Given the description of an element on the screen output the (x, y) to click on. 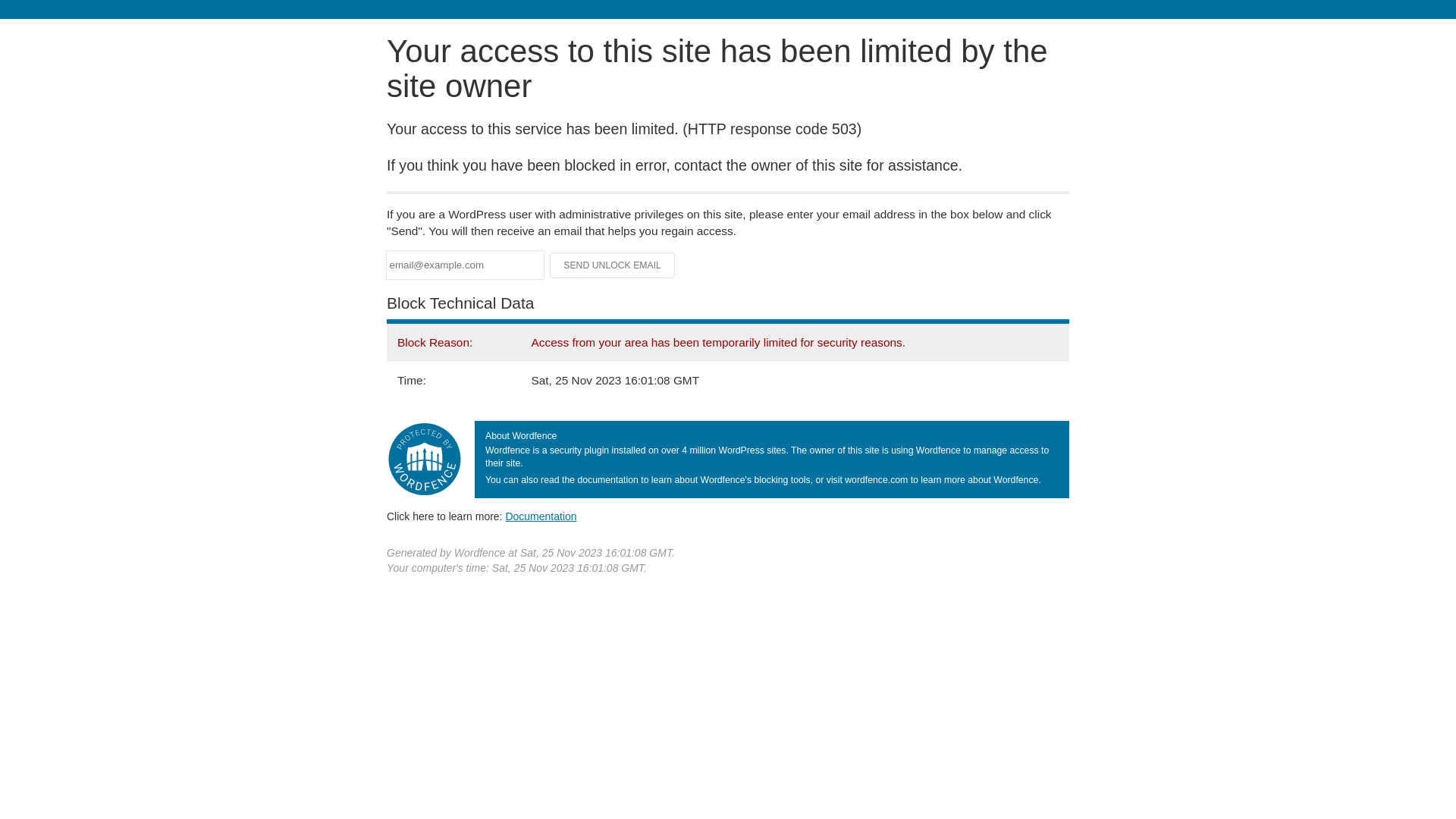
Send Unlock Email Element type: text (612, 265)
Documentation Element type: text (540, 516)
